Given the description of an element on the screen output the (x, y) to click on. 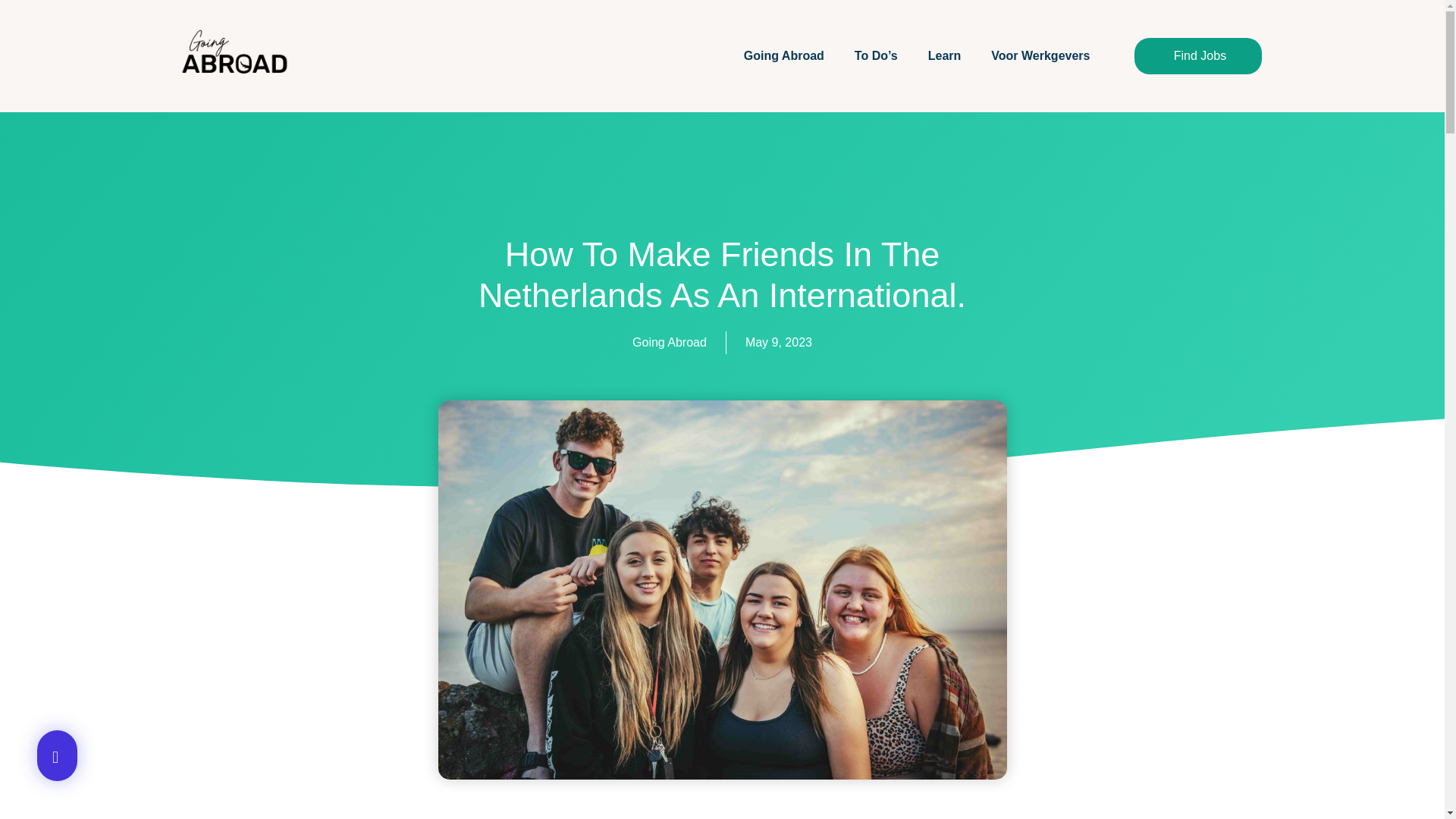
May 9, 2023 (778, 342)
Going Abroad (668, 342)
Going Abroad (784, 55)
Find Jobs (1198, 55)
Voor Werkgevers (1040, 55)
Learn (944, 55)
